Given the description of an element on the screen output the (x, y) to click on. 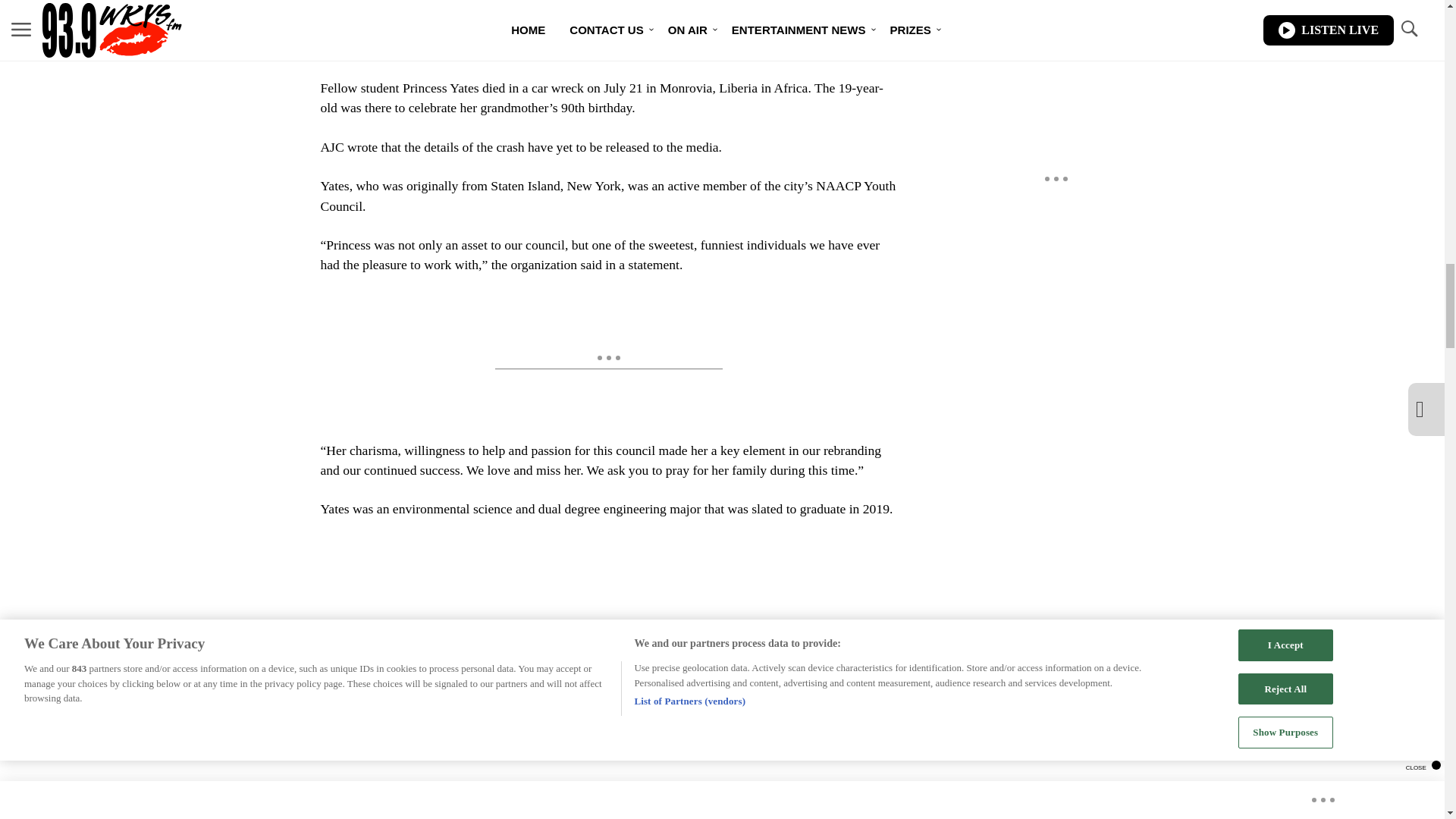
told WSB-TV (447, 28)
